Given the description of an element on the screen output the (x, y) to click on. 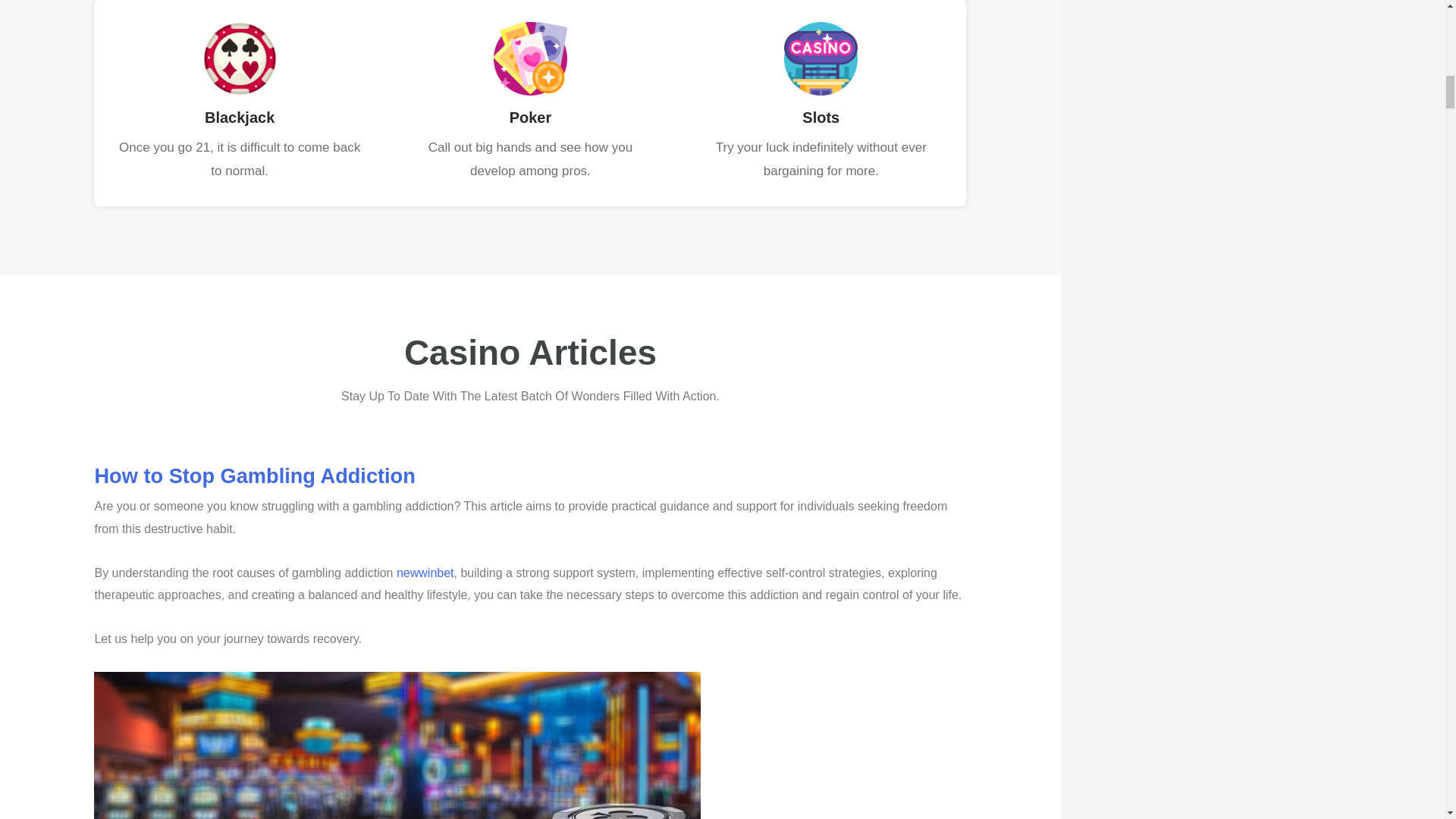
newwinbet (425, 572)
How to Stop Gambling Addiction (254, 475)
